Given the description of an element on the screen output the (x, y) to click on. 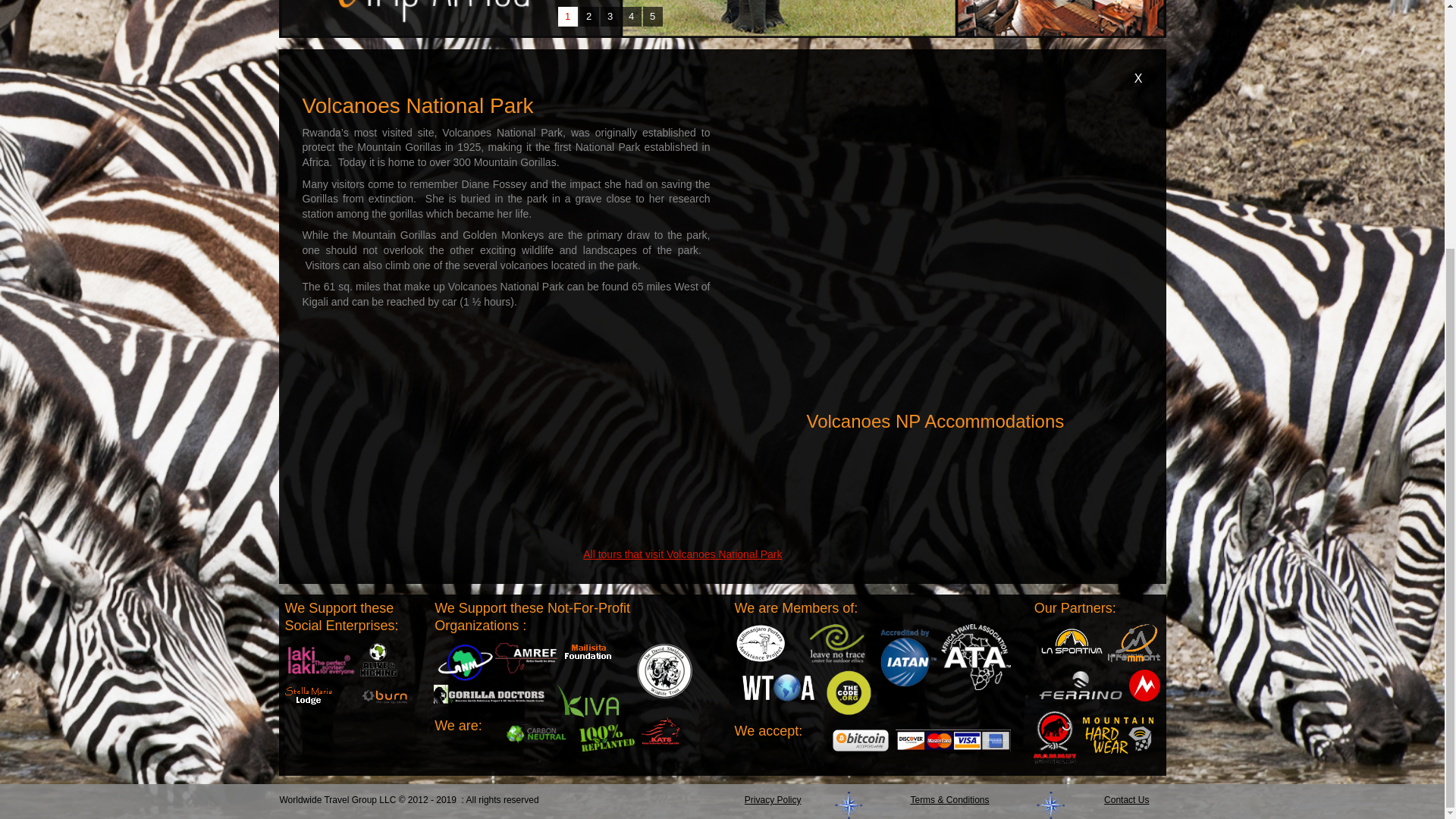
3 (609, 16)
2 (588, 16)
1 (567, 16)
